Given the description of an element on the screen output the (x, y) to click on. 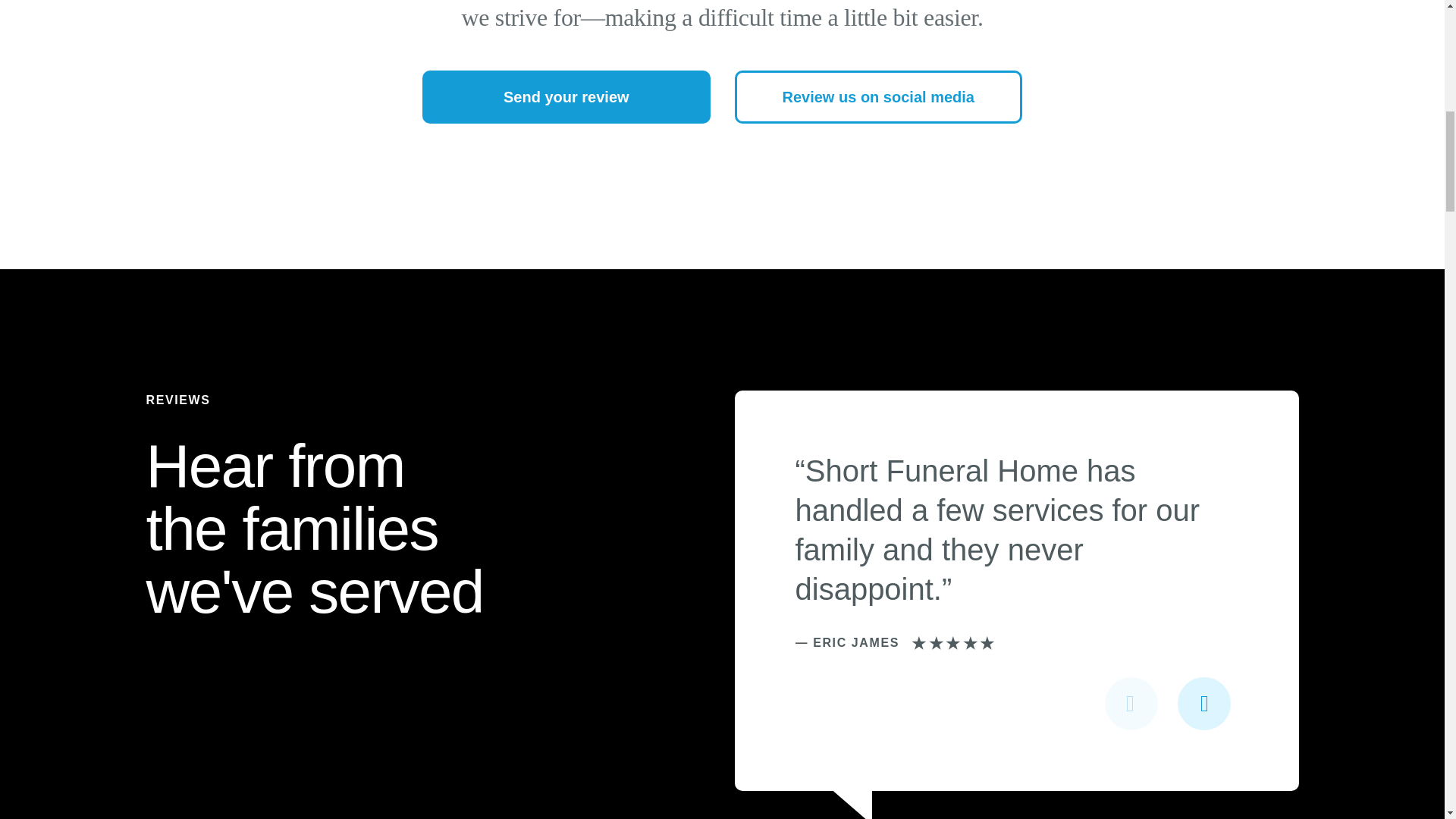
Send your review (566, 96)
Review us on social media (877, 96)
